Given the description of an element on the screen output the (x, y) to click on. 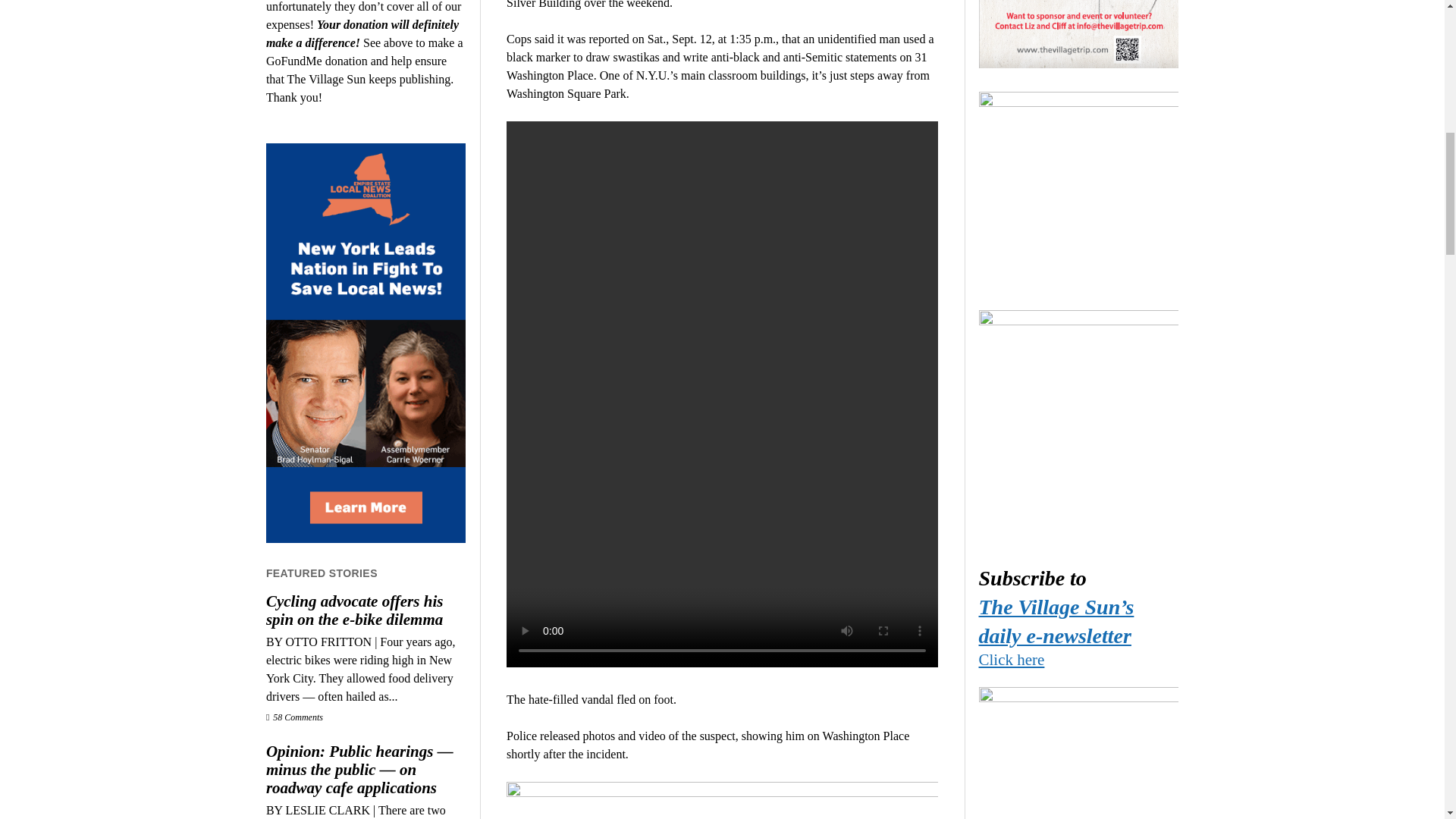
Cycling advocate offers his spin on the e-bike dilemma (365, 610)
58 Comments (294, 716)
